Given the description of an element on the screen output the (x, y) to click on. 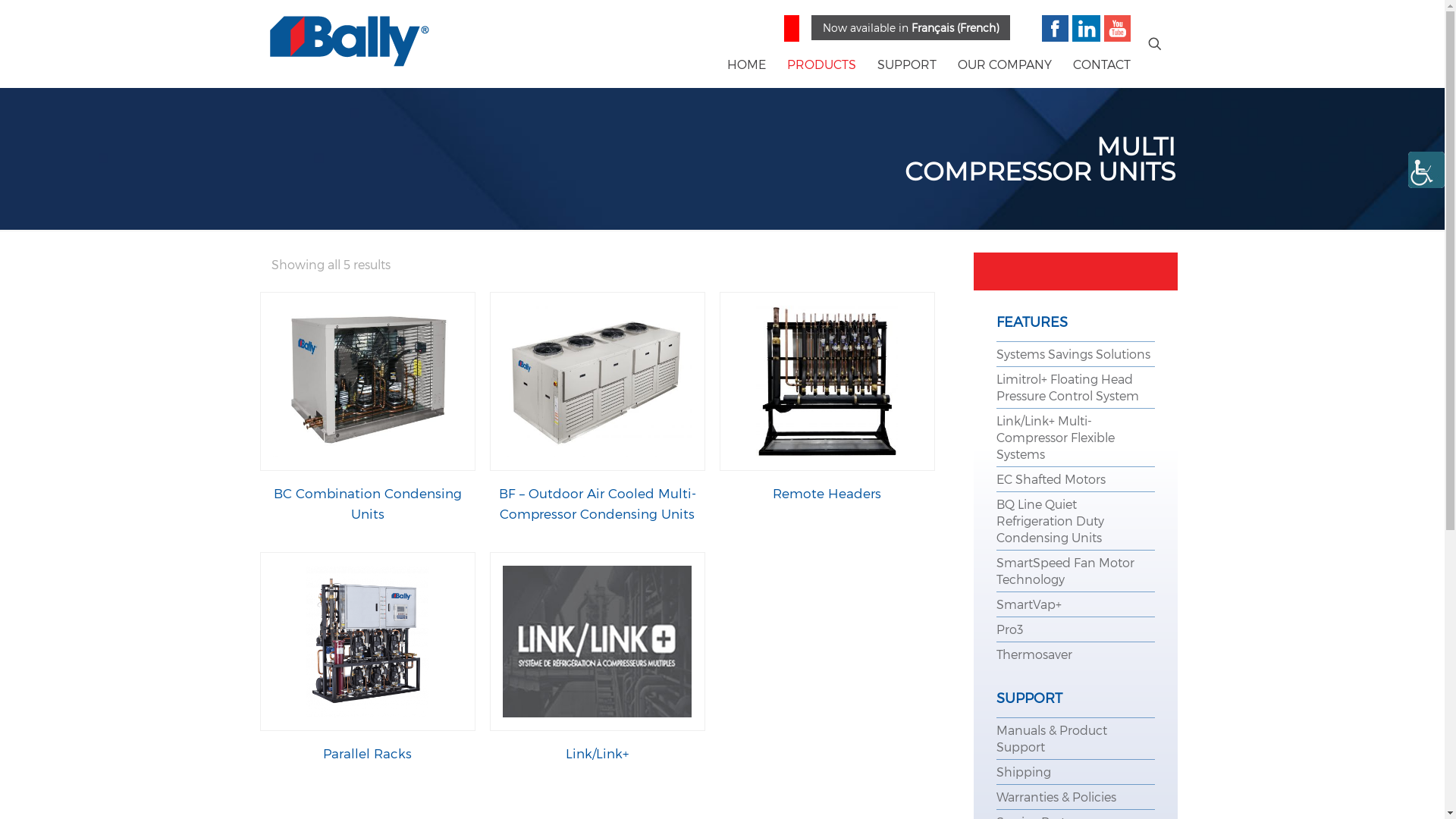
EC Shafted Motors Element type: text (1050, 478)
HOME Element type: text (746, 64)
SUPPORT Element type: text (906, 64)
BC Combination Condensing Units Element type: text (367, 502)
PRODUCTS Element type: text (821, 64)
Limitrol+ Floating Head Pressure Control System Element type: text (1067, 386)
OUR COMPANY Element type: text (1004, 64)
Manuals & Product Support Element type: text (1051, 737)
Shipping Element type: text (1023, 771)
Thermosaver Element type: text (1034, 653)
Pro3 Element type: text (1009, 628)
Link/Link+ Element type: text (596, 752)
Systems Savings Solutions Element type: text (1073, 353)
Link/Link+ Multi-Compressor Flexible Systems Element type: text (1055, 437)
CONTACT Element type: text (1101, 64)
BQ Line Quiet Refrigeration Duty Condensing Units Element type: text (1050, 520)
SmartVap+ Element type: text (1028, 603)
Parallel Racks Element type: text (367, 752)
SmartSpeed Fan Motor Technology Element type: text (1065, 570)
Warranties & Policies Element type: text (1056, 796)
Remote Headers Element type: text (826, 492)
